Given the description of an element on the screen output the (x, y) to click on. 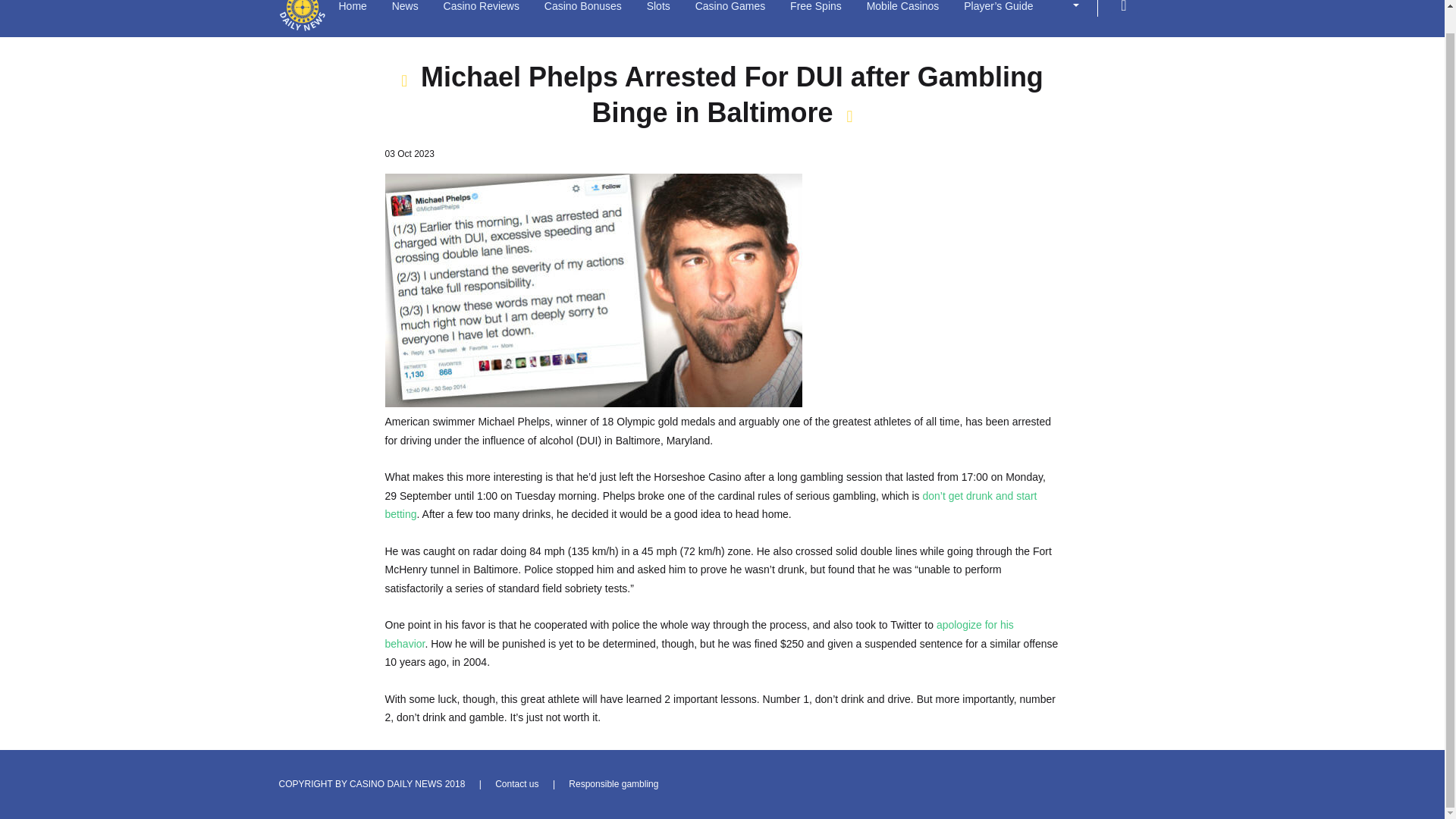
Casino Bonuses (583, 9)
Casino Reviews (481, 9)
apologize for his behavior (699, 634)
Mobile Casinos (902, 9)
Free Spins (816, 9)
Contact us (516, 783)
Casino Games (730, 9)
Slots (658, 9)
News (405, 9)
Responsible gambling (613, 783)
Home (352, 9)
The Downsides of Gaming (710, 504)
